Given the description of an element on the screen output the (x, y) to click on. 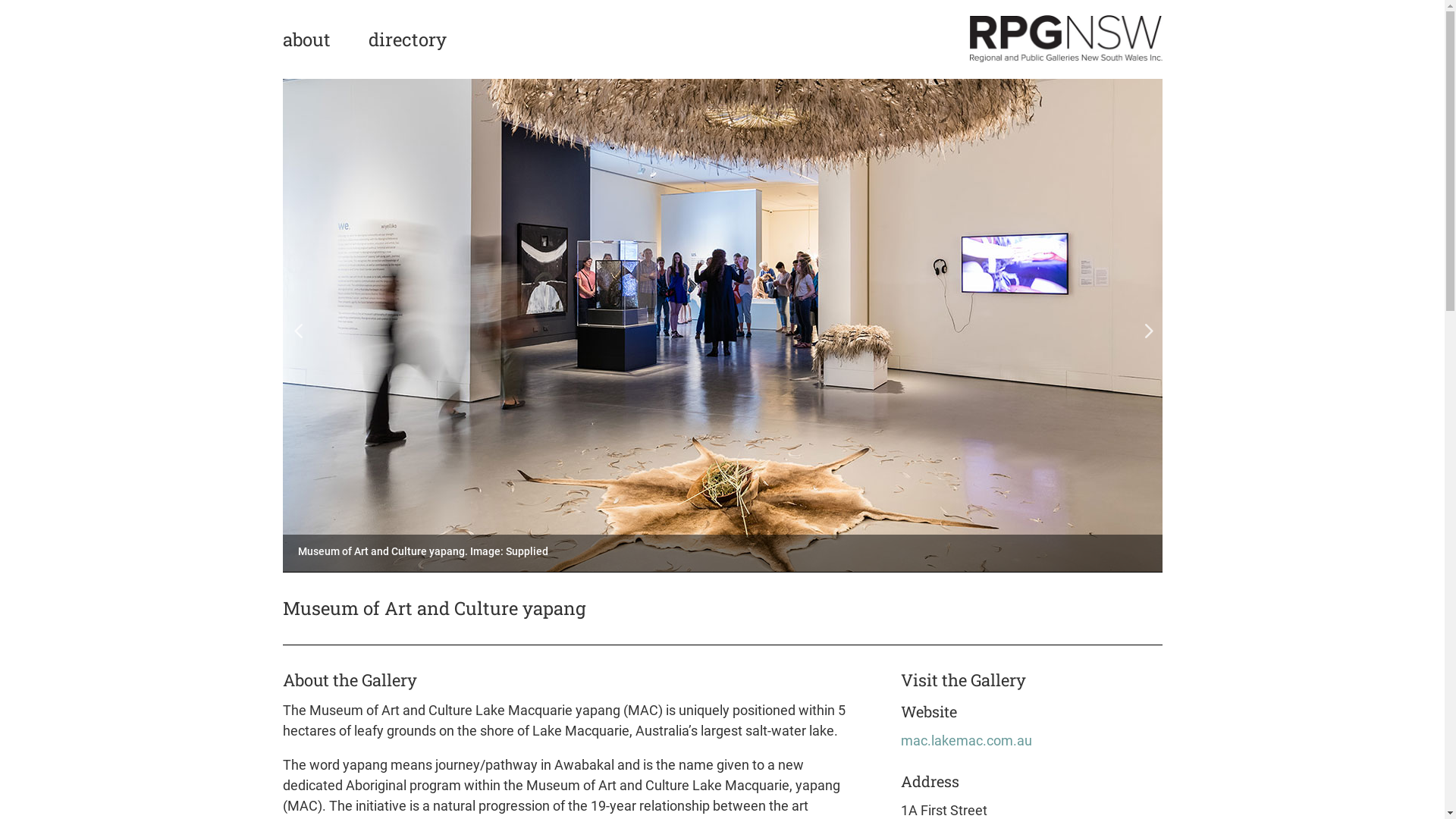
directory Element type: text (407, 56)
Prev Element type: text (297, 325)
mac.lakemac.com.au Element type: text (966, 740)
about Element type: text (305, 56)
Prev Element type: text (1146, 325)
